Given the description of an element on the screen output the (x, y) to click on. 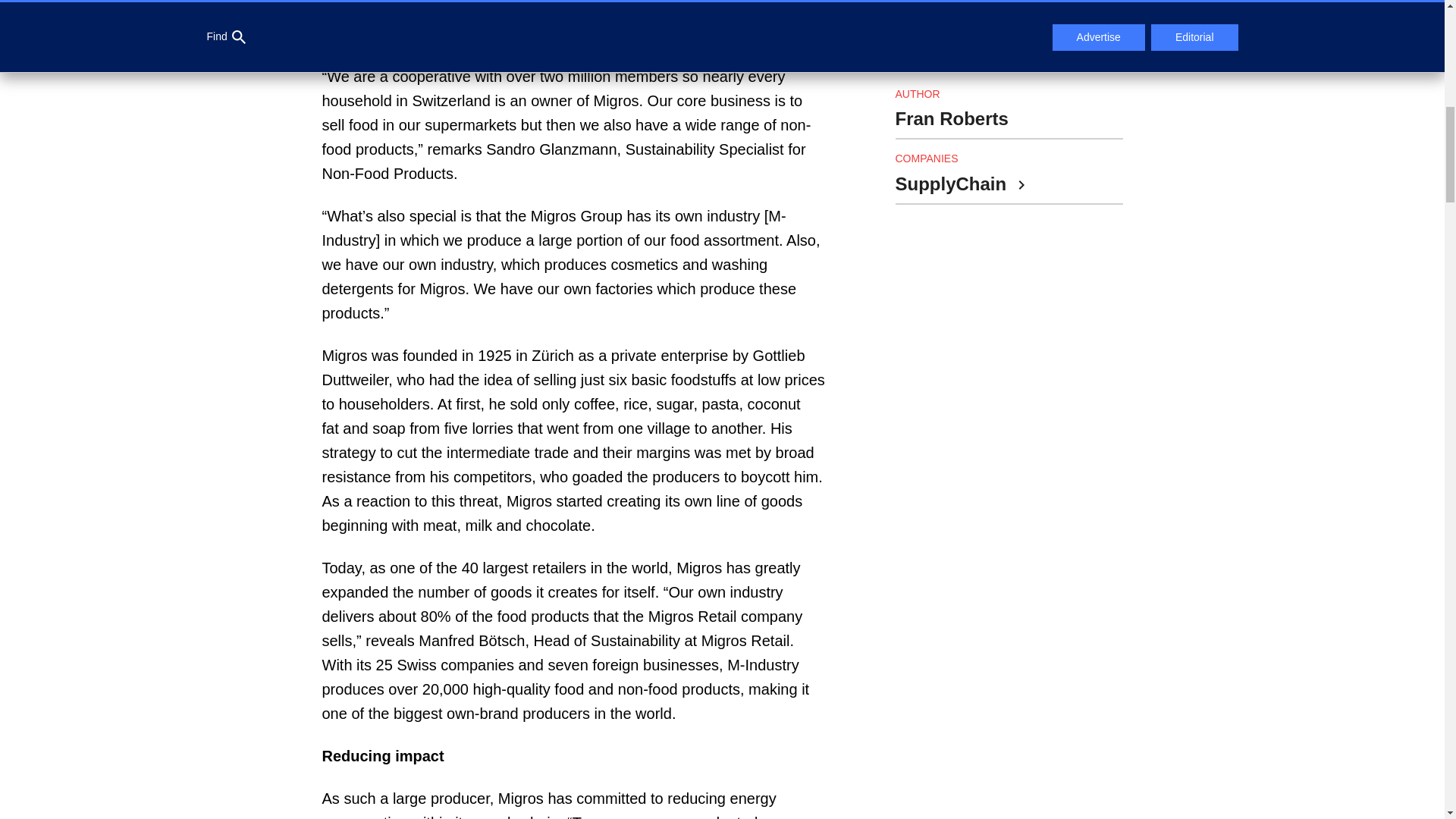
SupplyChain (960, 184)
